Given the description of an element on the screen output the (x, y) to click on. 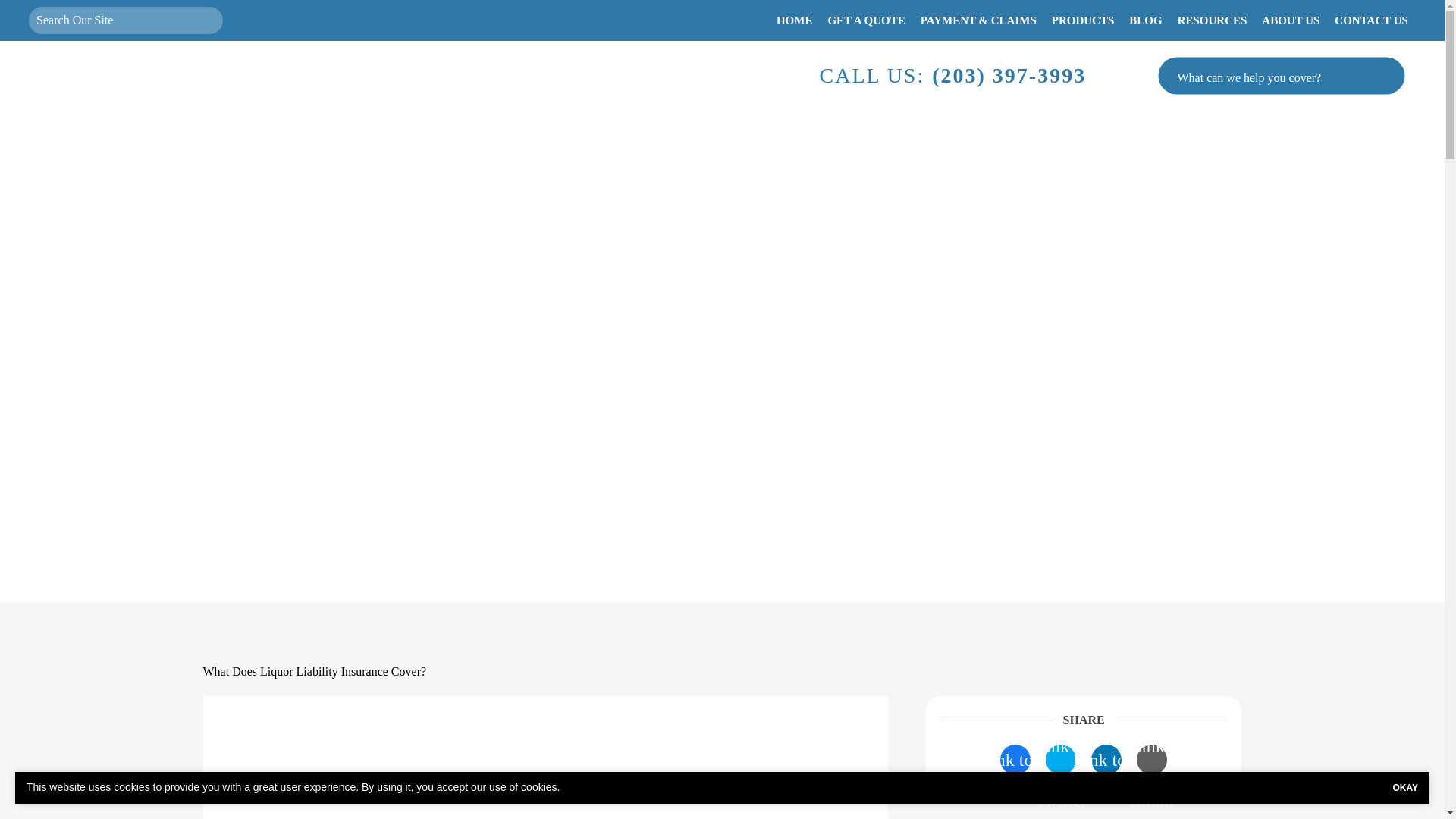
ABOUT US (1289, 20)
PRODUCTS (1082, 20)
RESOURCES (1212, 20)
CONTACT US (1370, 20)
BLOG (1145, 20)
Search (205, 20)
GET A QUOTE (865, 20)
HOME (794, 20)
